Given the description of an element on the screen output the (x, y) to click on. 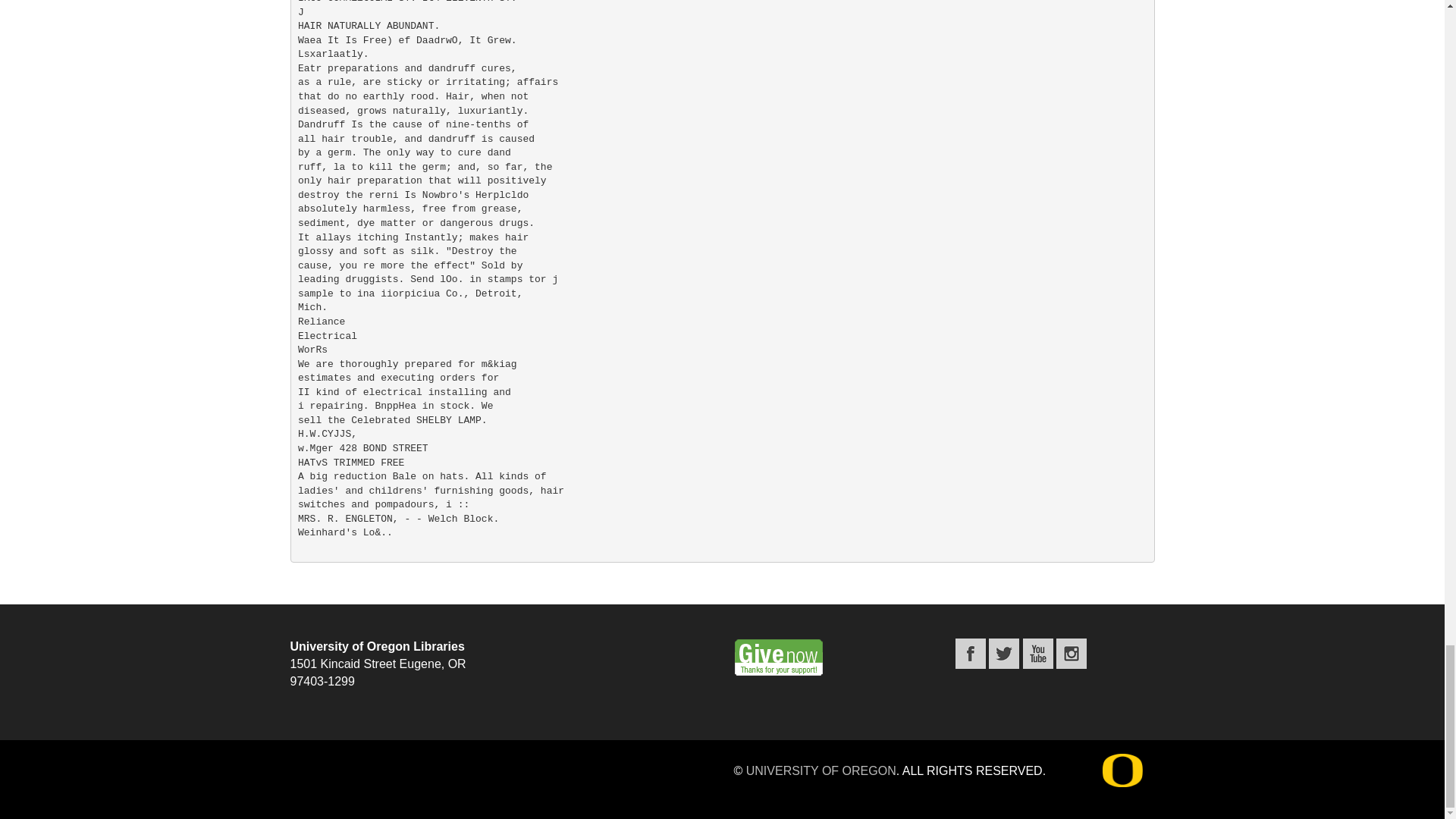
UNIVERSITY OF OREGON (820, 770)
